Given the description of an element on the screen output the (x, y) to click on. 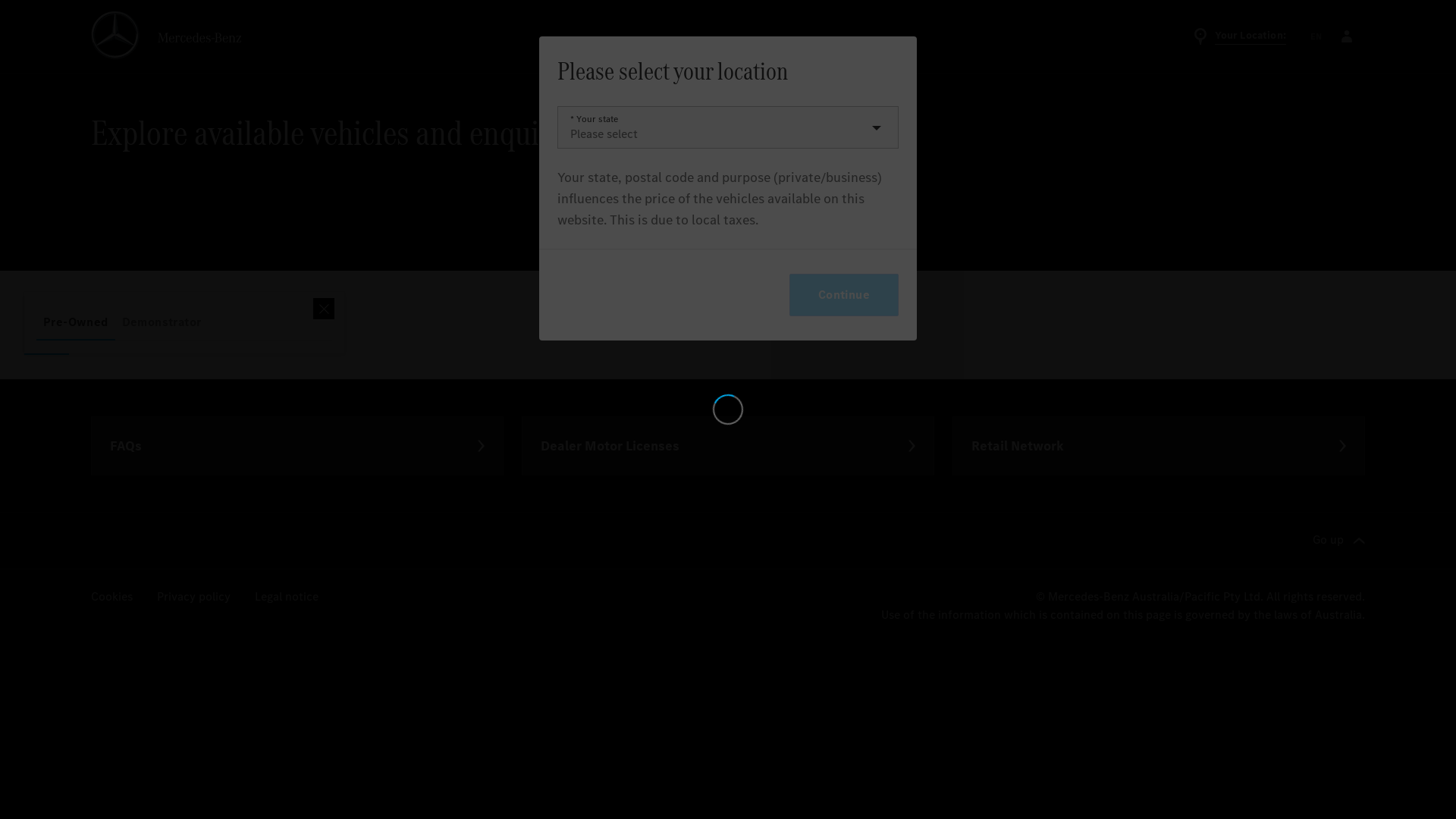
Continue Element type: text (843, 283)
Your Location: Element type: text (1236, 36)
EN Element type: text (1316, 36)
Cookies Element type: text (111, 537)
Privacy policy Element type: text (193, 537)
Legal notice Element type: text (286, 537)
Go up Element type: text (1338, 481)
